Given the description of an element on the screen output the (x, y) to click on. 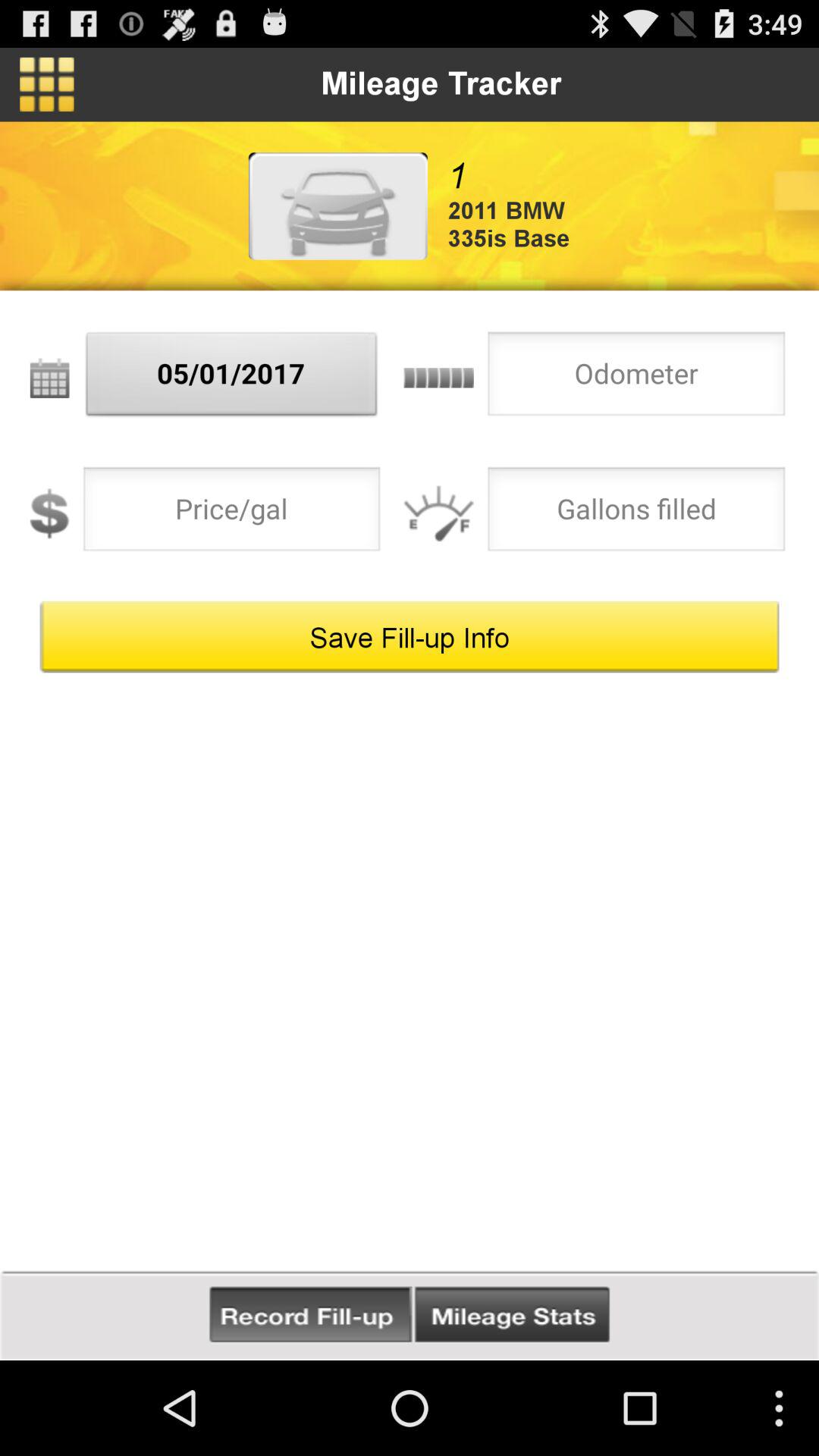
enter price per gallon (231, 513)
